Given the description of an element on the screen output the (x, y) to click on. 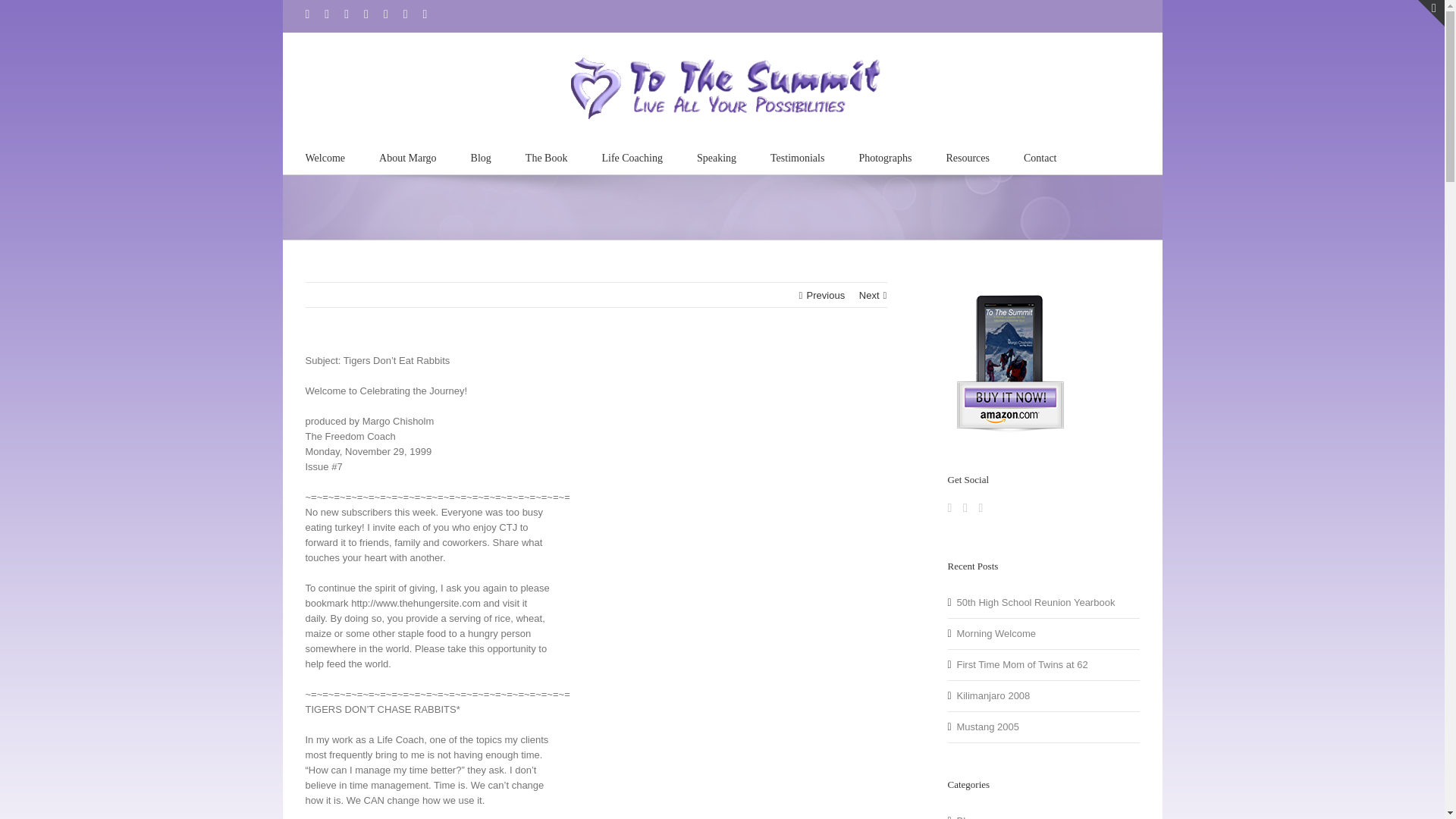
Speaking (716, 156)
Contact (1040, 156)
Resources (967, 156)
The Book (546, 156)
Welcome (324, 156)
About Margo (407, 156)
Life Coaching (631, 156)
Photographs (885, 156)
Testimonials (797, 156)
